Given the description of an element on the screen output the (x, y) to click on. 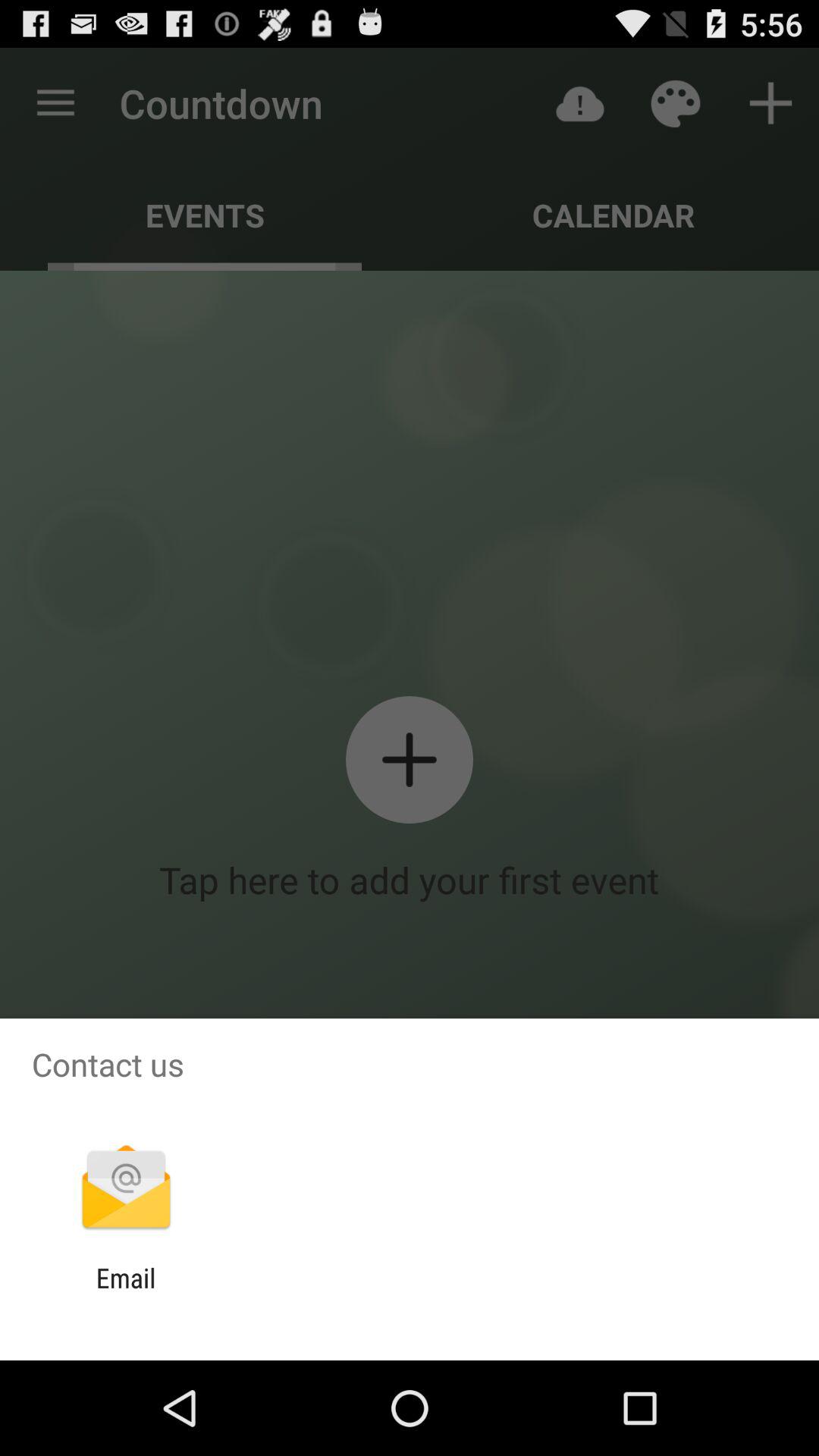
jump until the email item (125, 1293)
